Given the description of an element on the screen output the (x, y) to click on. 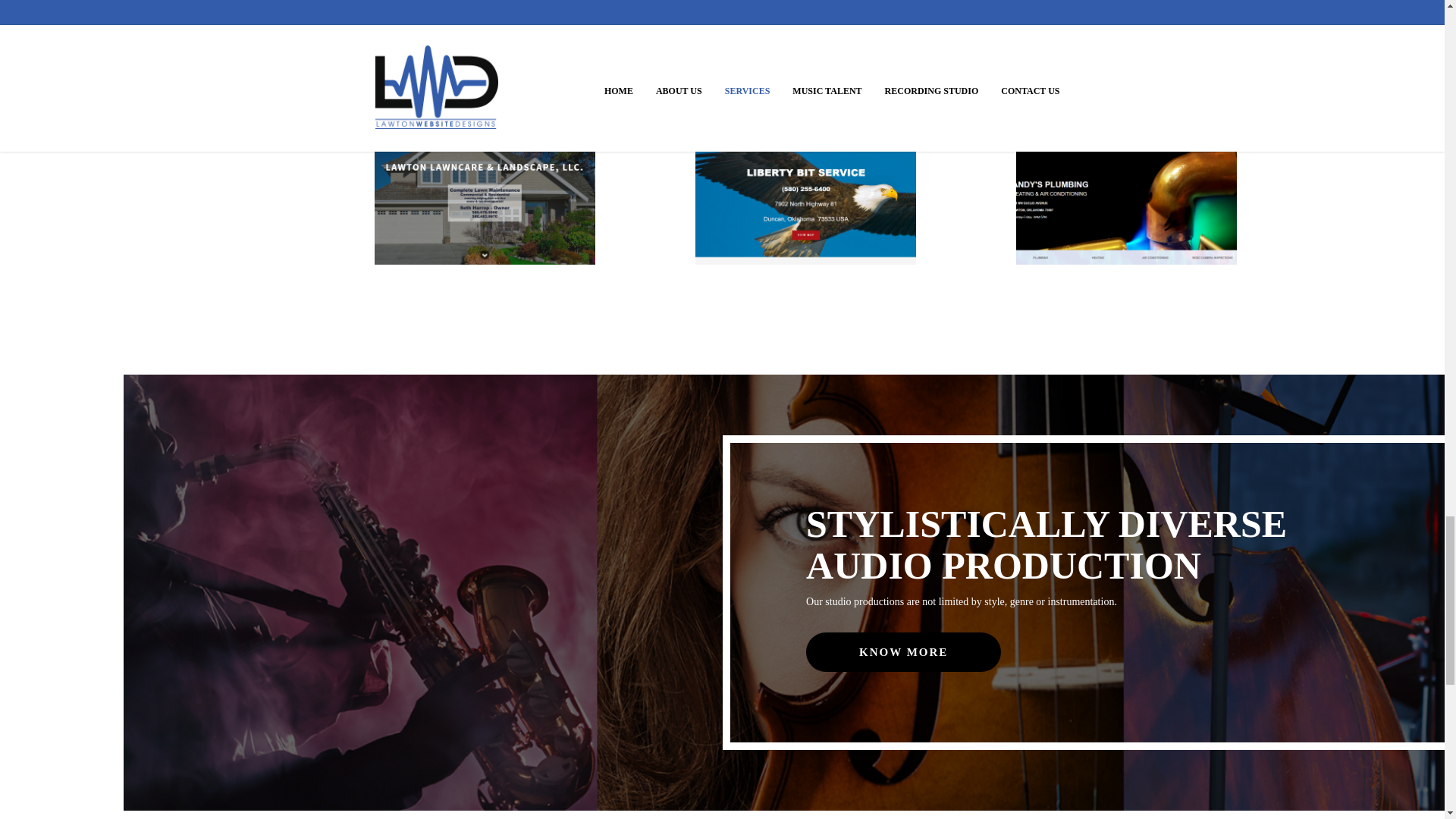
CLIENT 16 (484, 190)
CLIENT 13 (484, 22)
CLIENT 17 (805, 190)
CLIENT 14 (805, 22)
CLIENT 15 (1126, 22)
KNOW MORE (903, 651)
